Given the description of an element on the screen output the (x, y) to click on. 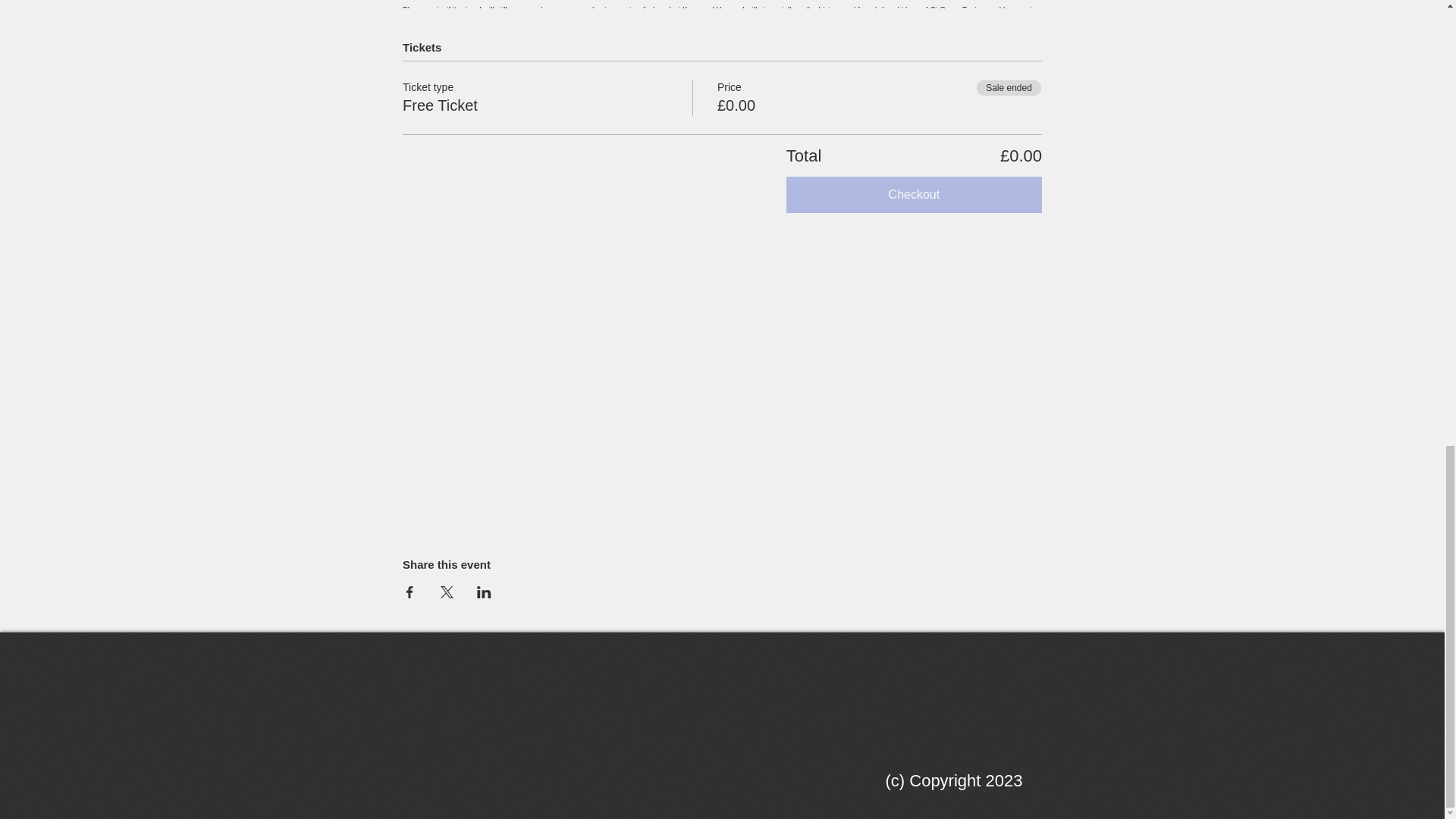
Checkout (914, 194)
